Given the description of an element on the screen output the (x, y) to click on. 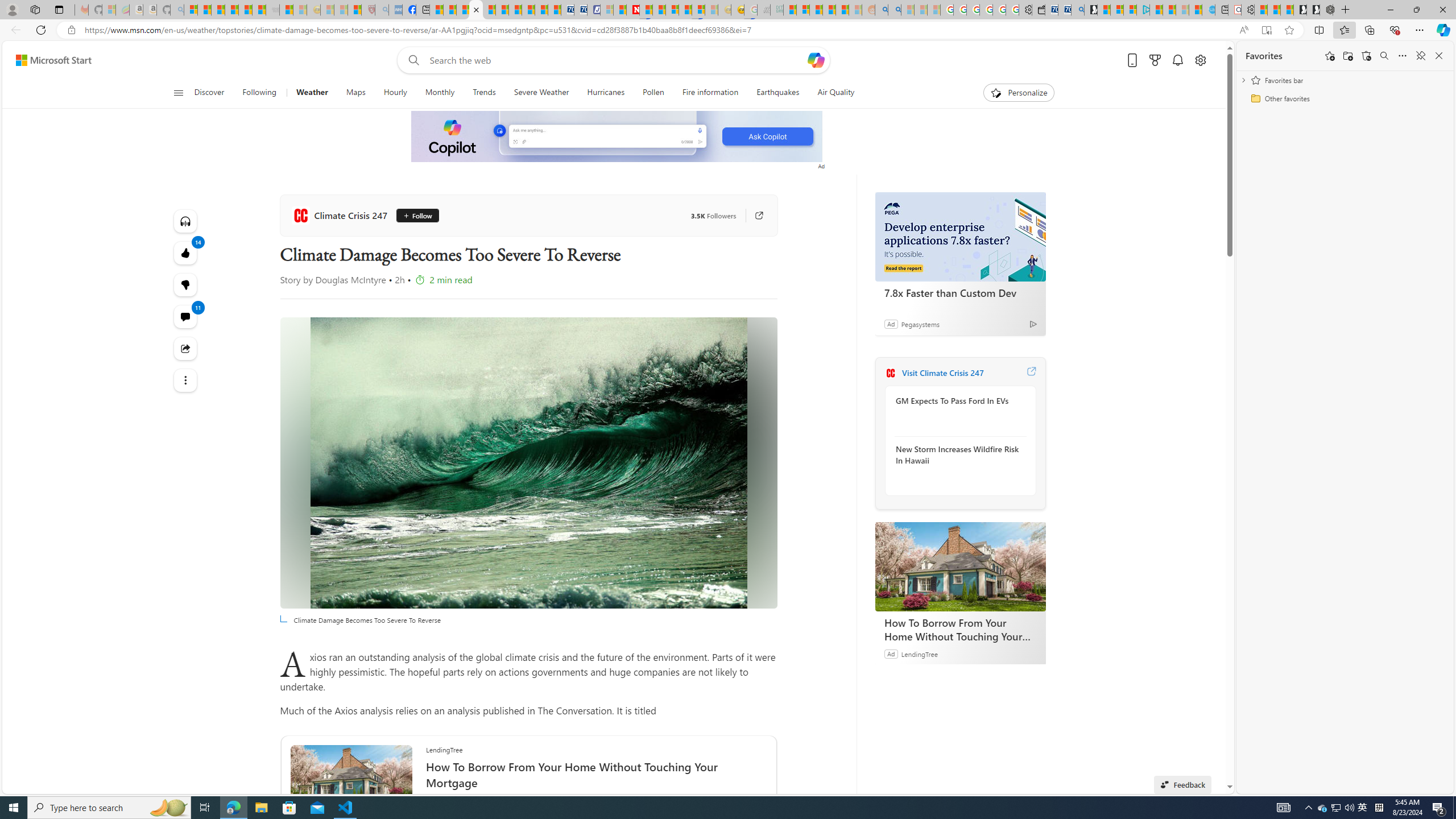
Unpin favorites (1420, 55)
7.8x Faster than Custom Dev (960, 236)
Climate Crisis 247 (889, 372)
Climate Damage Becomes Too Severe To Reverse (528, 462)
